Given the description of an element on the screen output the (x, y) to click on. 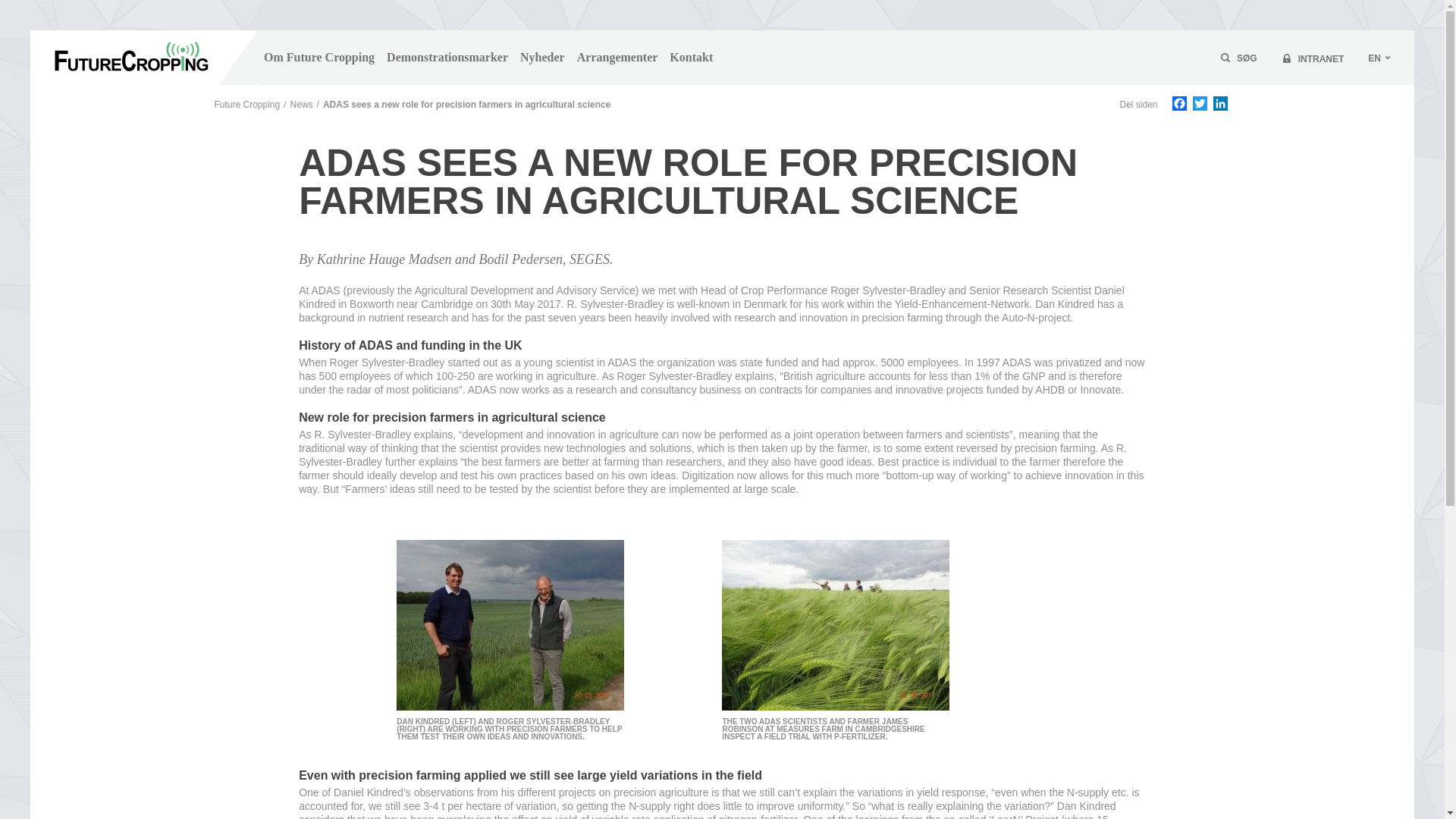
News (301, 104)
Kontakt (691, 57)
Twitter (1199, 104)
Facebook (1179, 104)
Facebook (1179, 104)
ARBEJDSPAKKER (520, 66)
PROJEKTDELTAGERE (733, 66)
LinkedIn (1219, 104)
Nyheder (541, 57)
PUBLIKATIONER (927, 66)
